Given the description of an element on the screen output the (x, y) to click on. 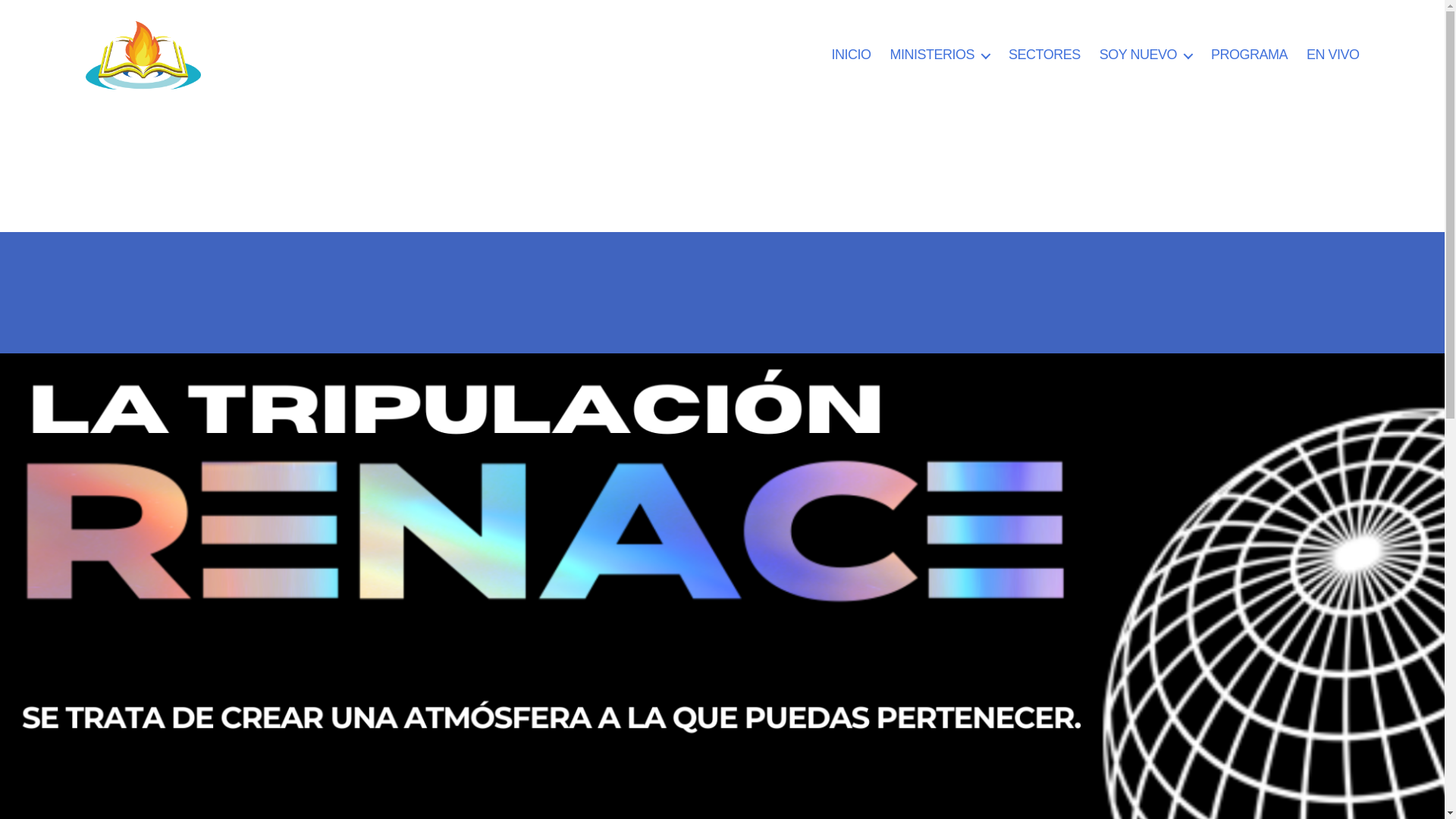
INICIO Element type: text (850, 55)
MINISTERIOS Element type: text (939, 55)
PROGRAMA Element type: text (1249, 55)
SECTORES Element type: text (1044, 55)
EN VIVO Element type: text (1332, 55)
SOY NUEVO Element type: text (1145, 55)
